Given the description of an element on the screen output the (x, y) to click on. 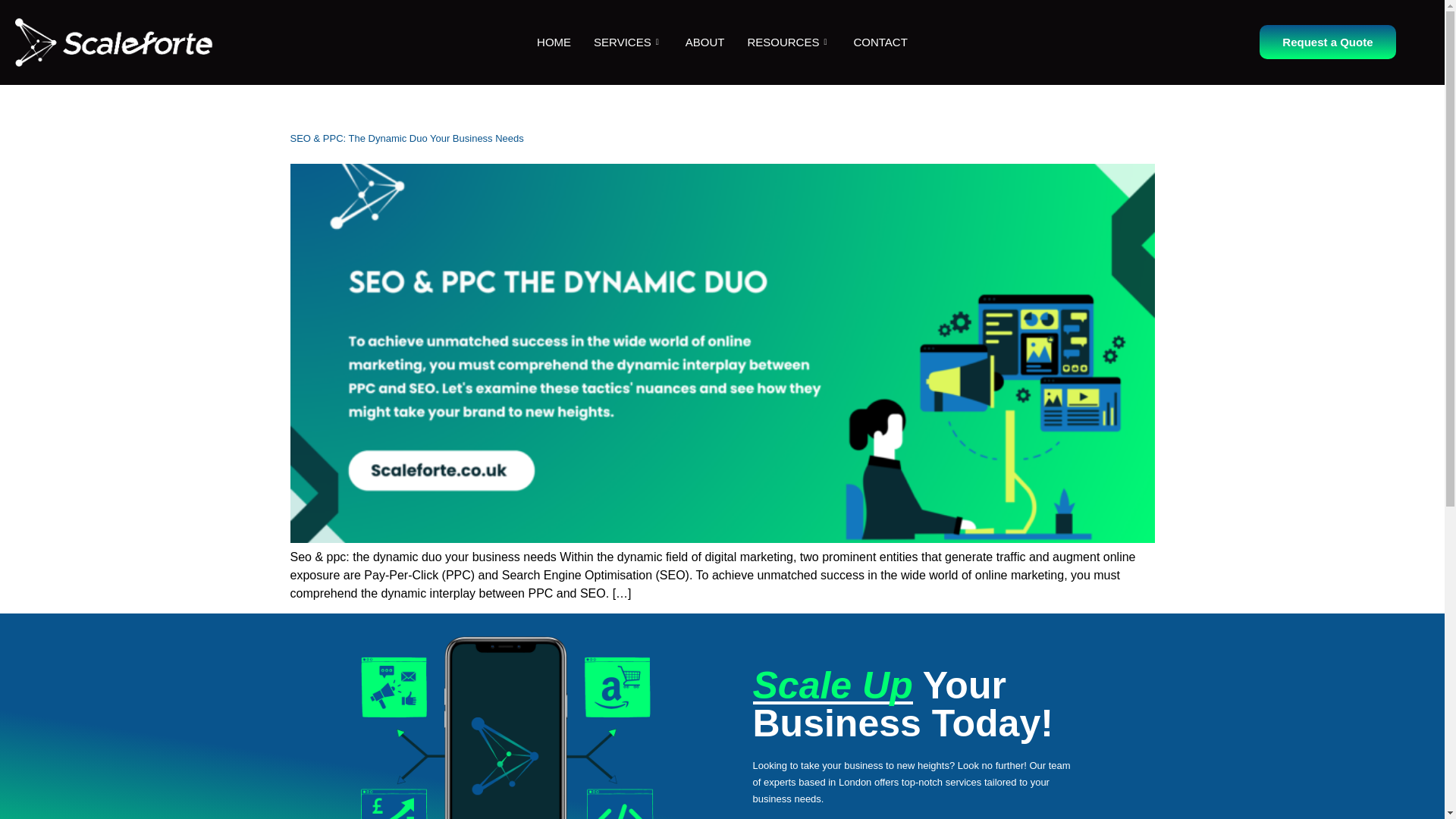
HOME (553, 42)
SERVICES (628, 42)
